Given the description of an element on the screen output the (x, y) to click on. 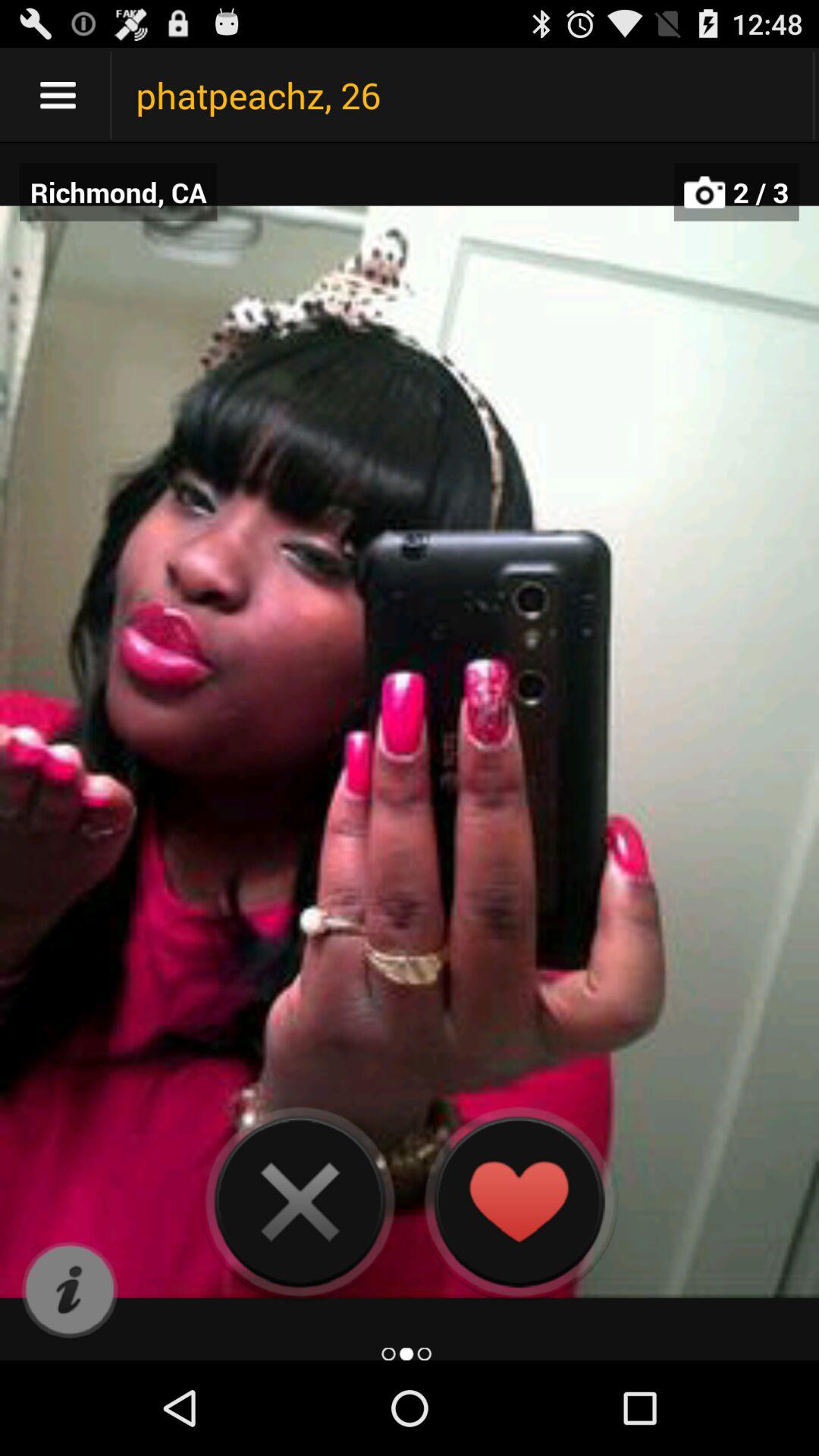
choose more info option (69, 1290)
